Given the description of an element on the screen output the (x, y) to click on. 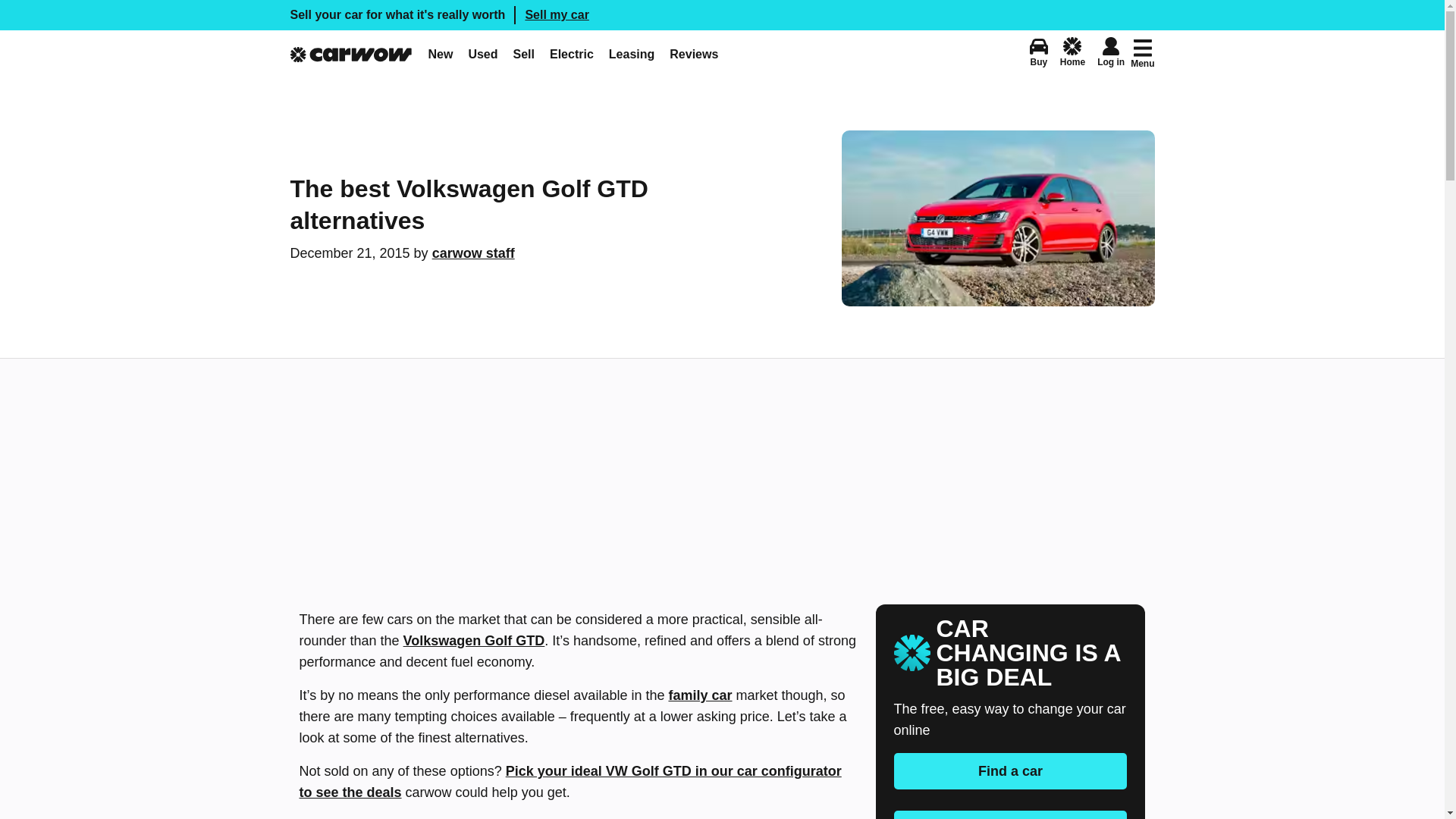
Leasing (631, 54)
Reviews (721, 15)
Used (693, 54)
Electric (482, 54)
